Given the description of an element on the screen output the (x, y) to click on. 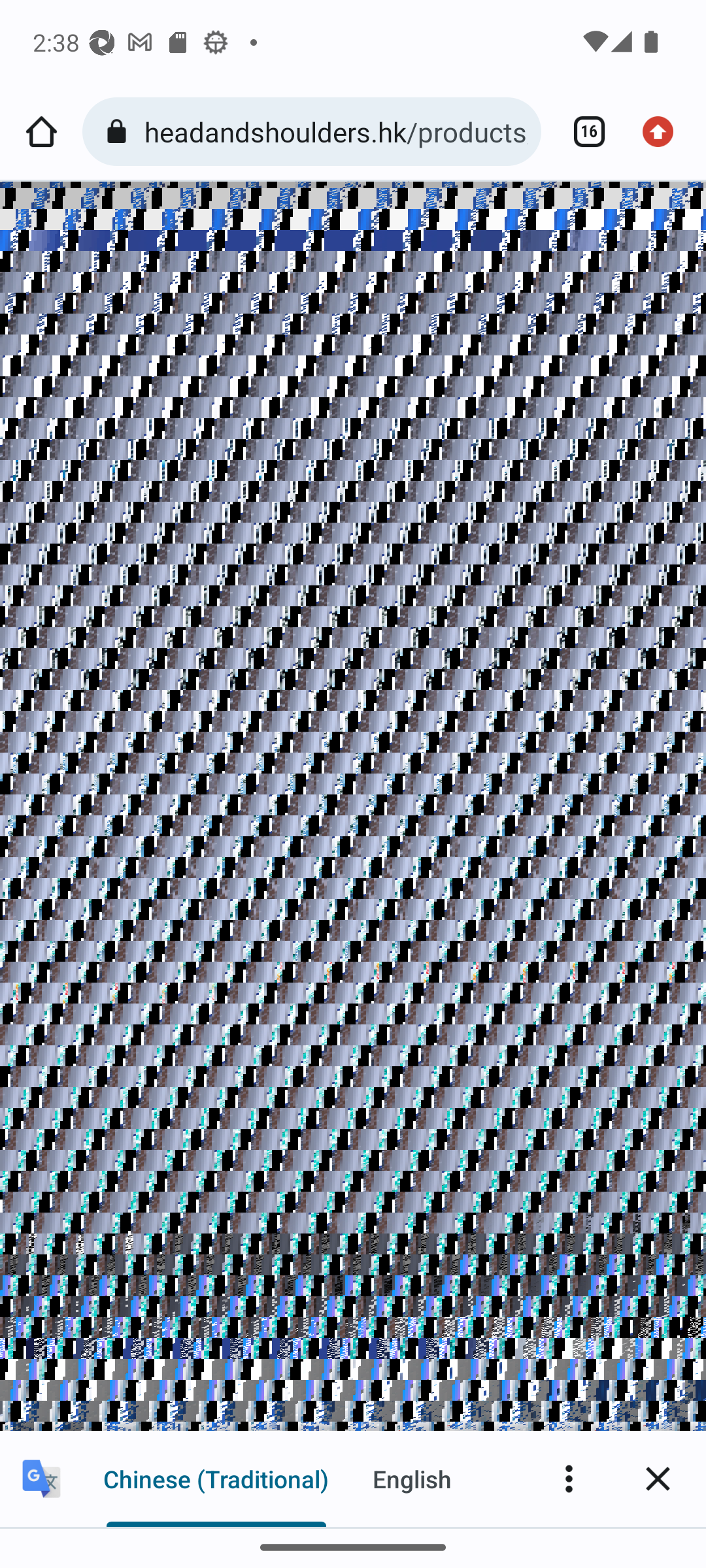
Home (41, 131)
Connection is secure (120, 131)
Switch or close tabs (582, 131)
Update available. More options (664, 131)
English (411, 1478)
More options (568, 1478)
Close (657, 1478)
